Given the description of an element on the screen output the (x, y) to click on. 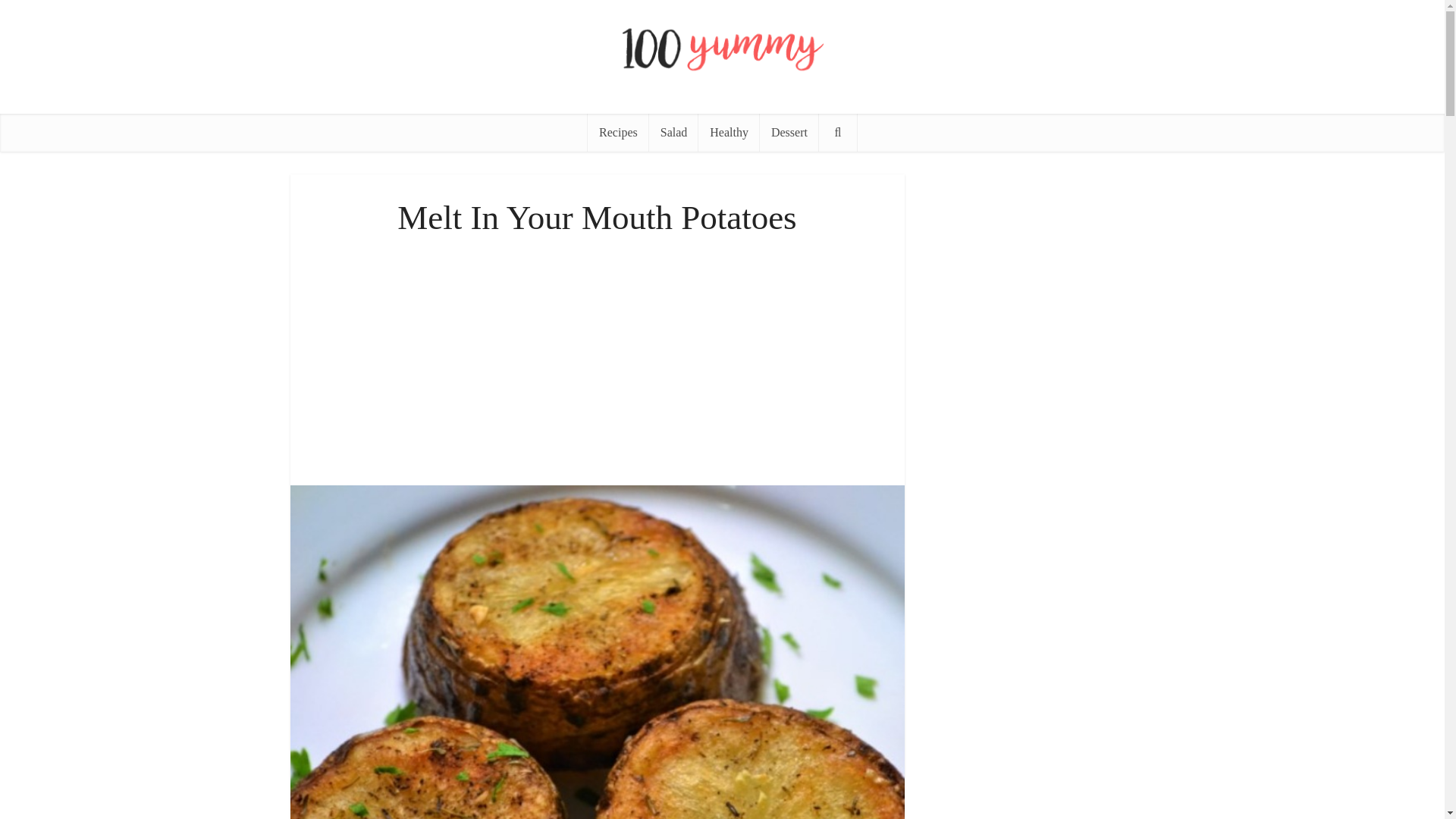
Dessert (789, 132)
Salad (673, 132)
Recipes (618, 132)
Healthy (729, 132)
Advertisement (596, 356)
